Given the description of an element on the screen output the (x, y) to click on. 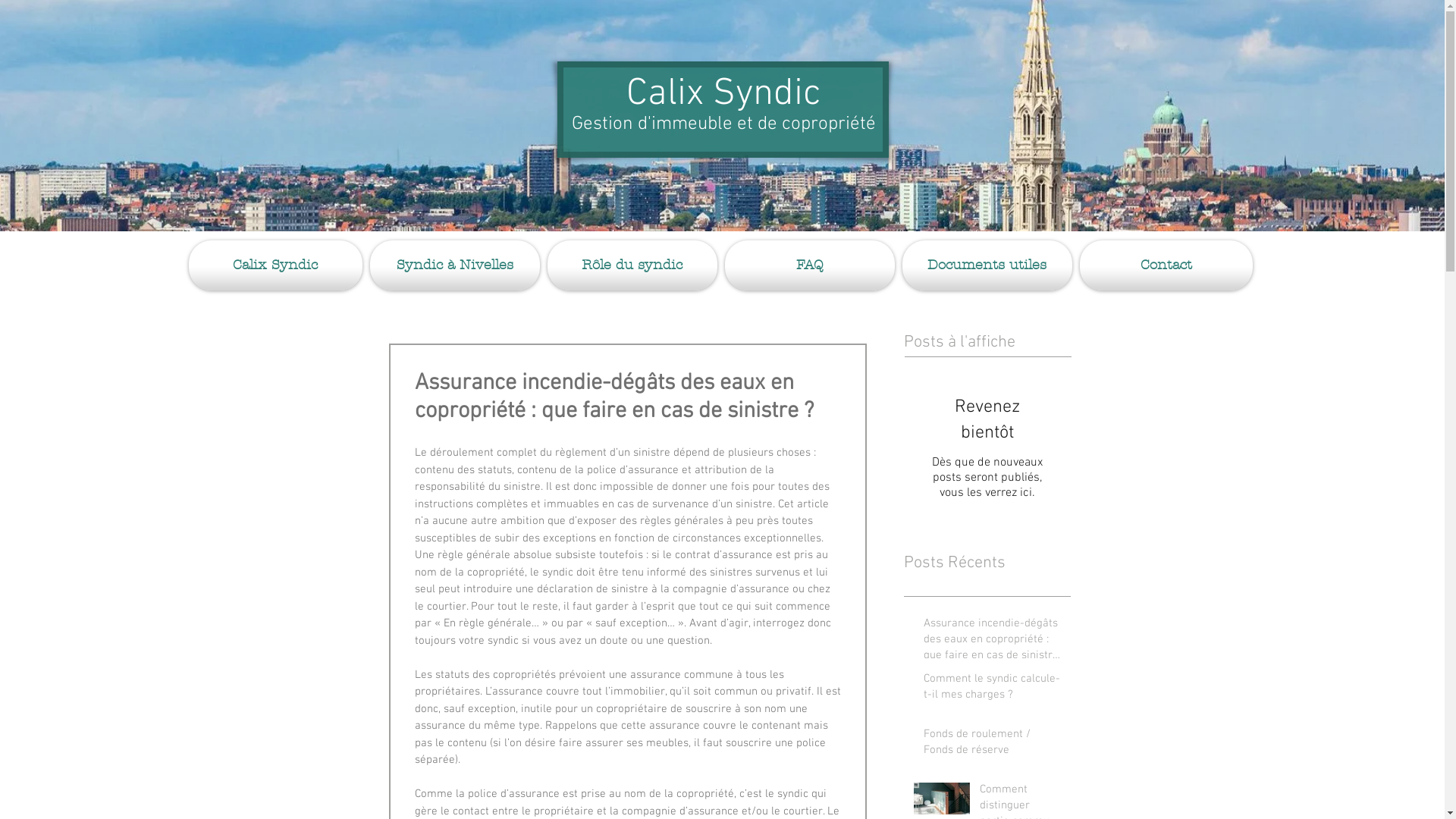
Calix Syndic Element type: text (276, 265)
Comment le syndic calcule-t-il mes charges ? Element type: text (992, 690)
Documents utiles Element type: text (986, 265)
Calix Syndic Element type: text (723, 94)
Contact Element type: text (1163, 265)
FAQ Element type: text (808, 265)
